Given the description of an element on the screen output the (x, y) to click on. 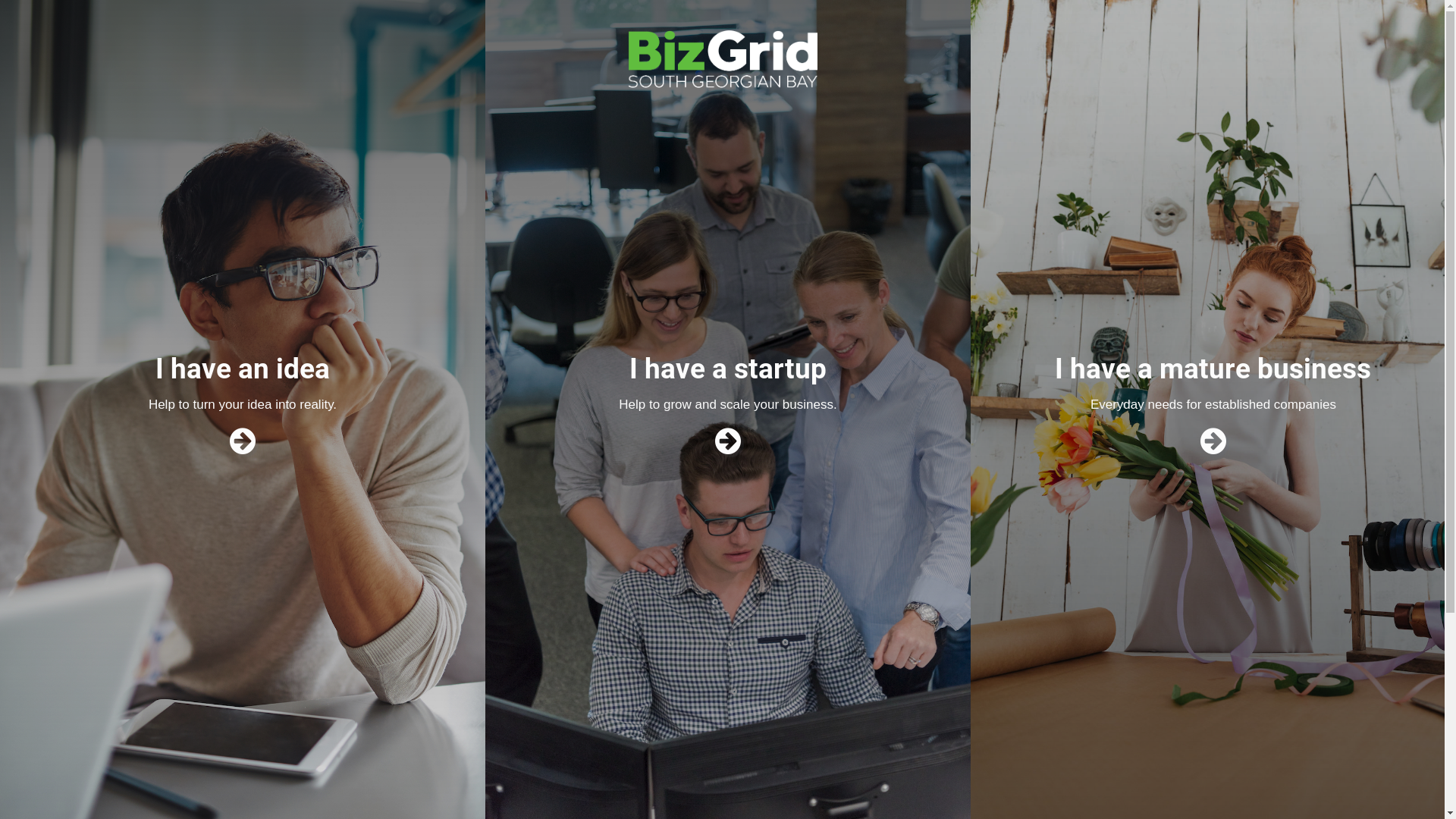
I have a mature business Element type: text (1212, 368)
Help to grow and scale your business. Element type: text (727, 404)
I have an idea Element type: text (242, 368)
Help to turn your idea into reality. Element type: text (242, 404)
I have a startup Element type: text (727, 368)
Everyday needs for established companies Element type: text (1213, 404)
Skip to content Element type: text (0, 0)
South Georgian Bay Bizgrid Element type: text (720, 106)
